Given the description of an element on the screen output the (x, y) to click on. 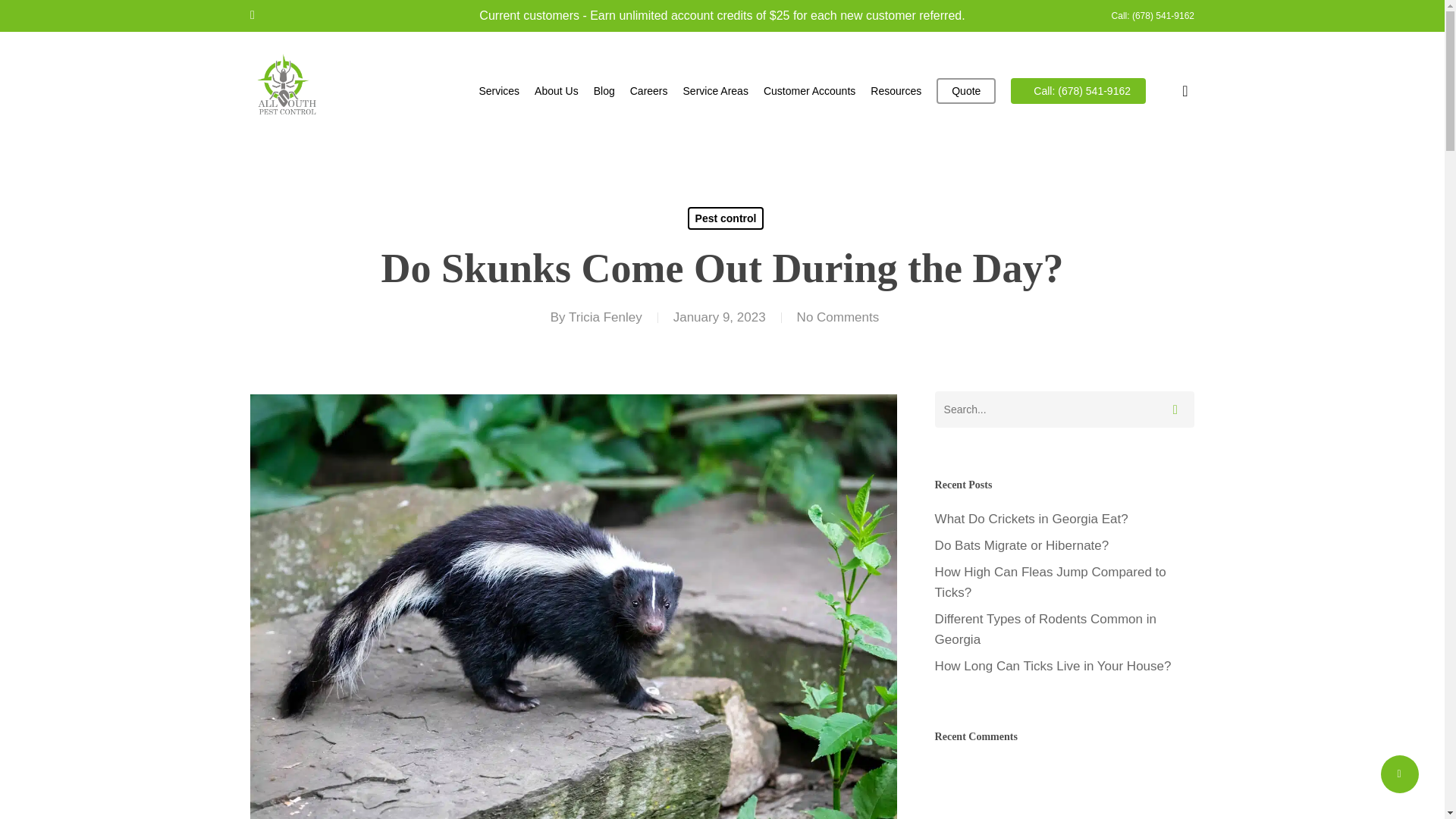
Blog (604, 90)
Services (499, 90)
Resources (895, 90)
Customer Accounts (809, 90)
Posts by Tricia Fenley (605, 317)
Careers (649, 90)
About Us (556, 90)
Service Areas (715, 90)
Search for: (1063, 409)
